Given the description of an element on the screen output the (x, y) to click on. 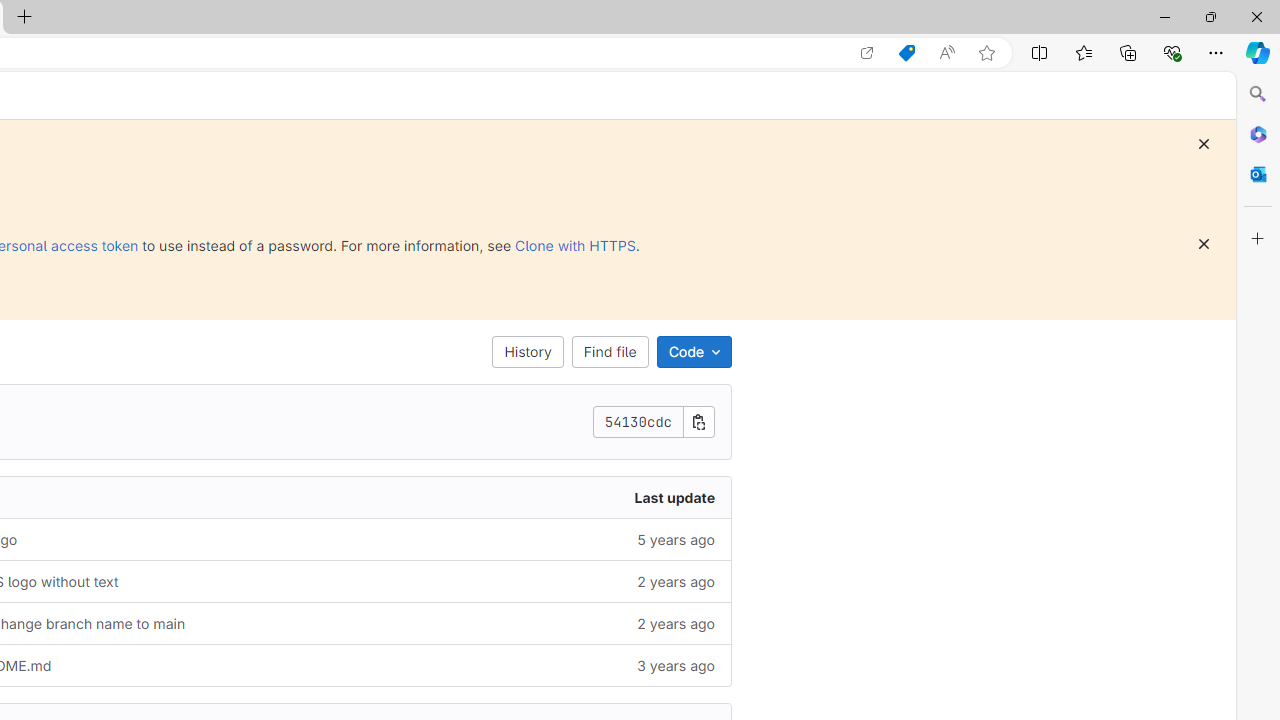
Dismiss (1203, 243)
5 years ago (522, 538)
Copy commit SHA (699, 421)
Open in app (867, 53)
Code (693, 351)
3 years ago (522, 664)
